Given the description of an element on the screen output the (x, y) to click on. 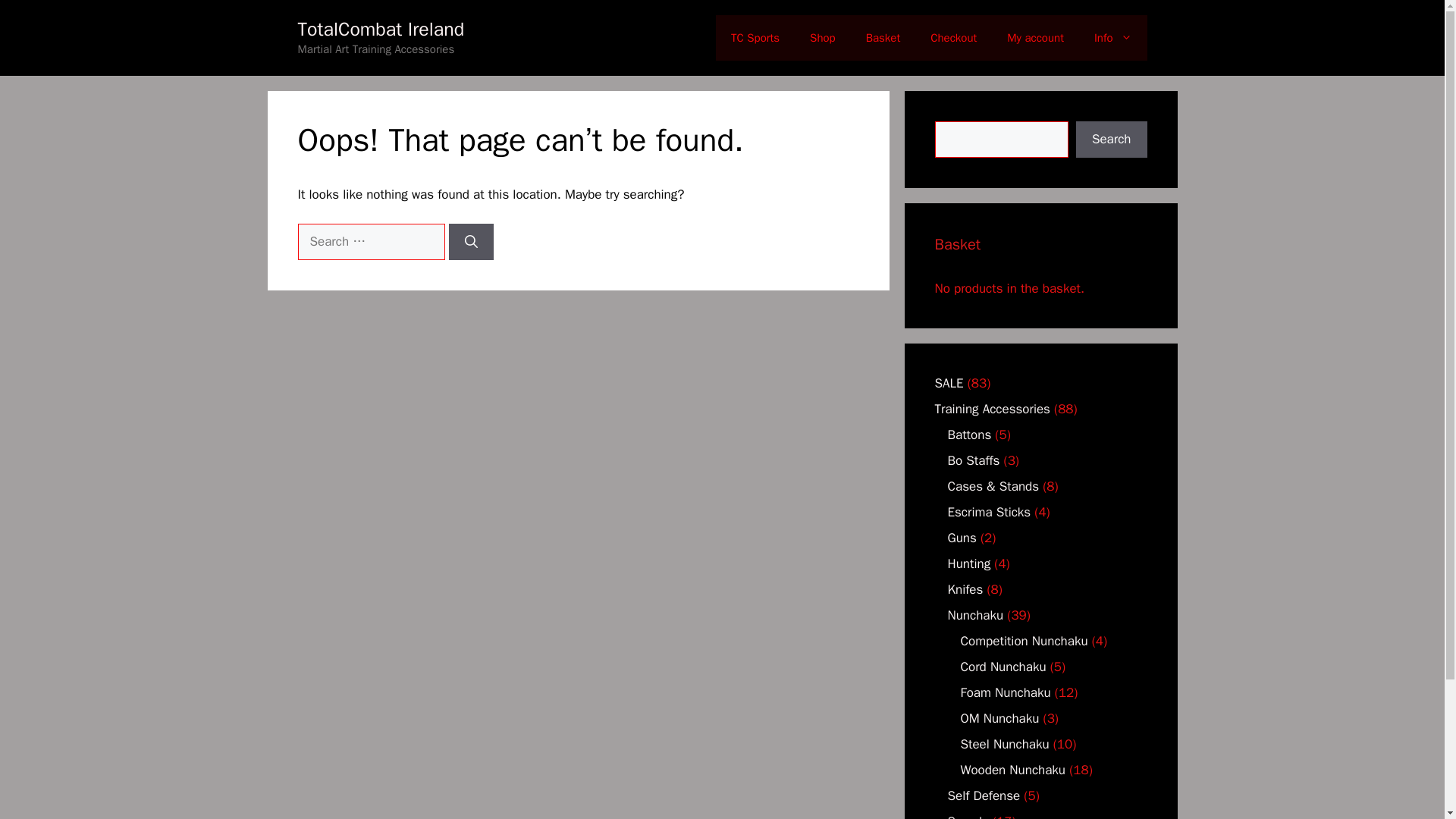
Checkout (953, 37)
OM Nunchaku (999, 718)
Info (1112, 37)
Basket (882, 37)
Search (1111, 139)
Foam Nunchaku (1004, 692)
Training Accessories (991, 408)
Steel Nunchaku (1003, 744)
Bo Staffs (973, 460)
Swords (967, 816)
